Given the description of an element on the screen output the (x, y) to click on. 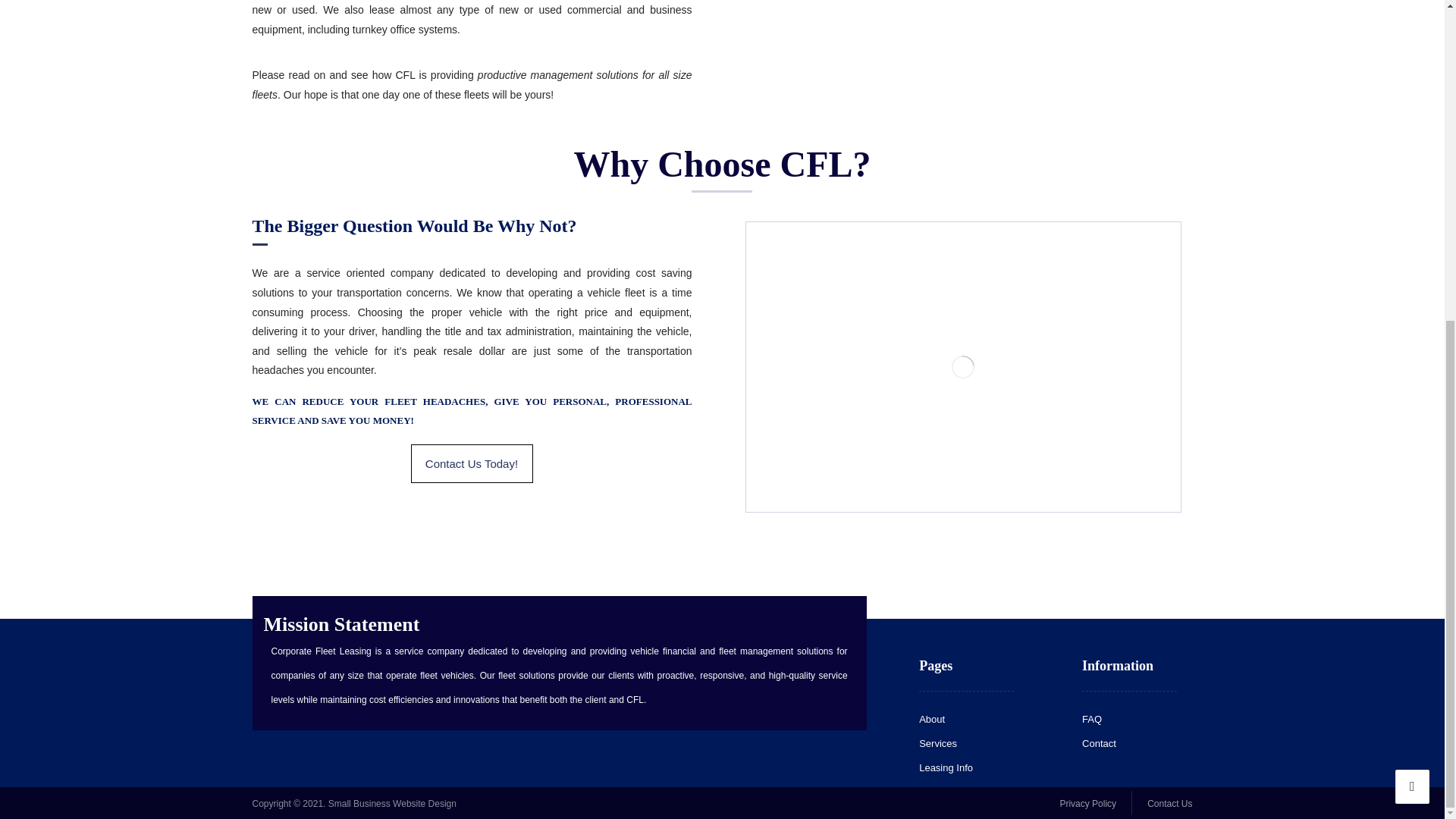
Privacy Policy (1087, 802)
Leasing Info (945, 767)
Services (937, 743)
About (931, 718)
FAQ (1091, 718)
Contact (1098, 743)
Small Business Website Design (393, 803)
Contact Us Today! (471, 463)
Contact Us (1169, 802)
